Given the description of an element on the screen output the (x, y) to click on. 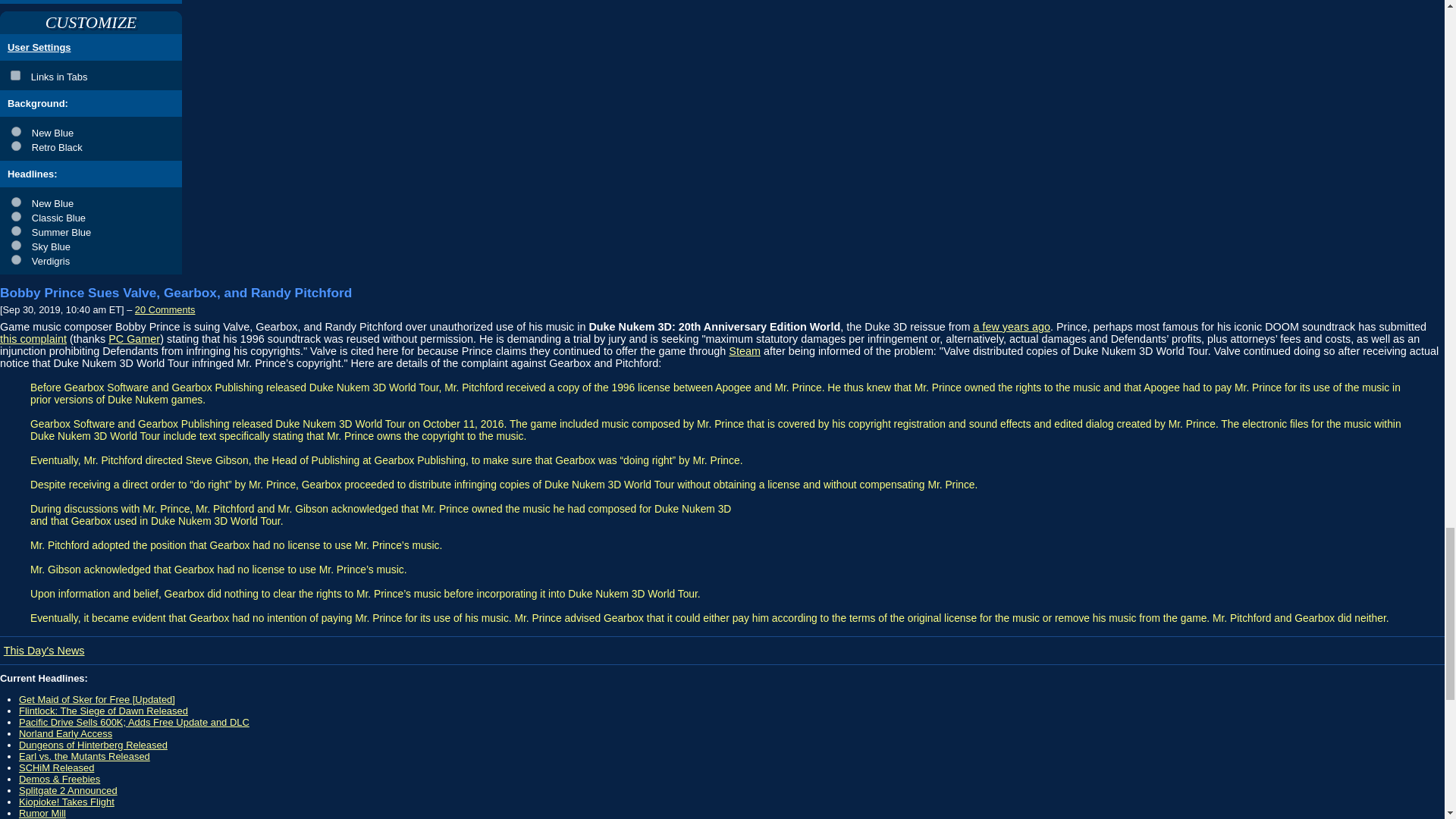
Check this box to launch external links in new tabs (91, 75)
Return to This Day's News (43, 649)
